Given the description of an element on the screen output the (x, y) to click on. 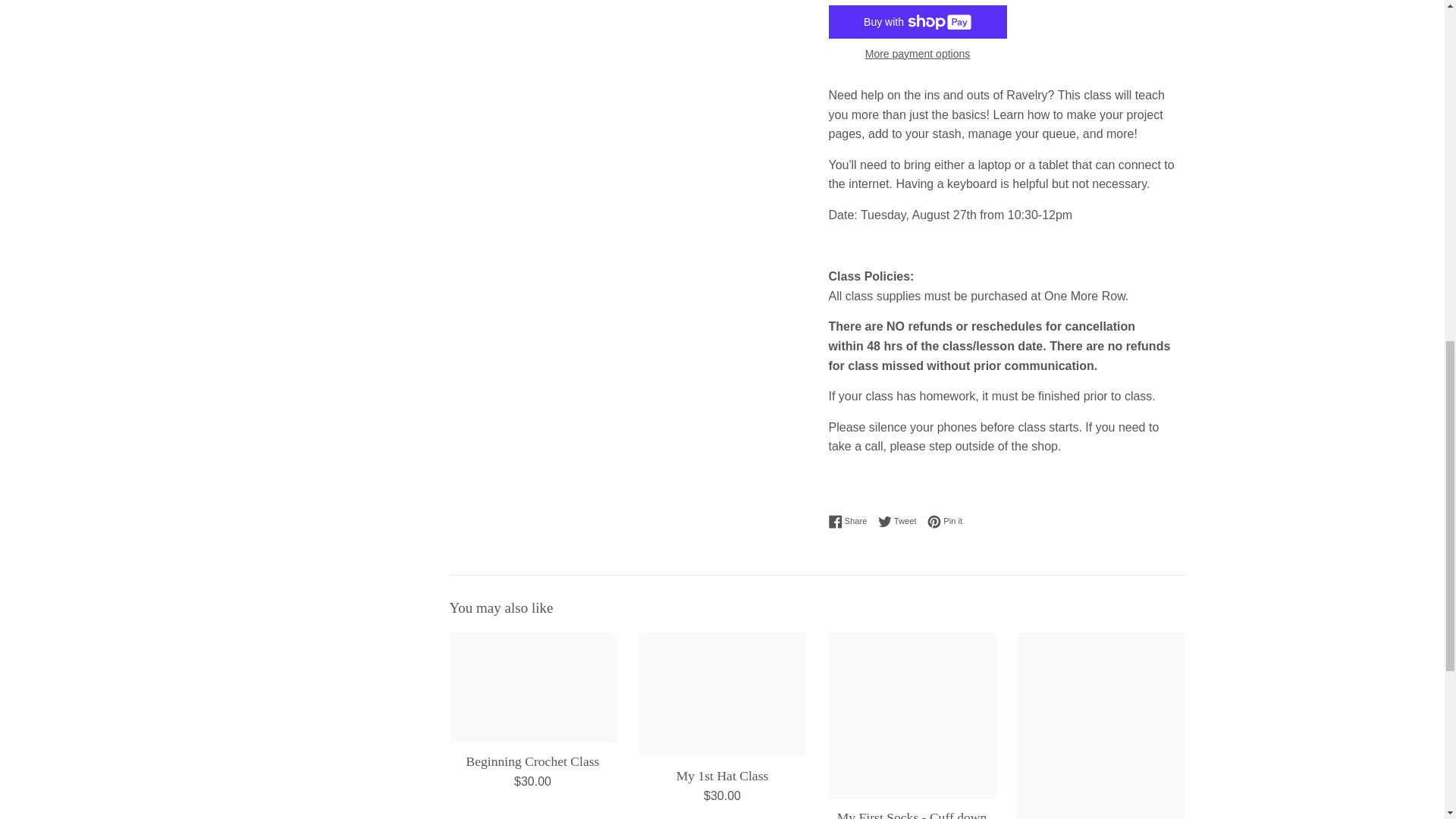
My 1st Hat Class (722, 694)
Tweet on Twitter (900, 521)
Share on Facebook (851, 521)
Pin on Pinterest (944, 521)
Beginning Crochet Class (531, 687)
Building Blocks Class (1101, 725)
My First Socks - Cuff down Class (911, 715)
